Given the description of an element on the screen output the (x, y) to click on. 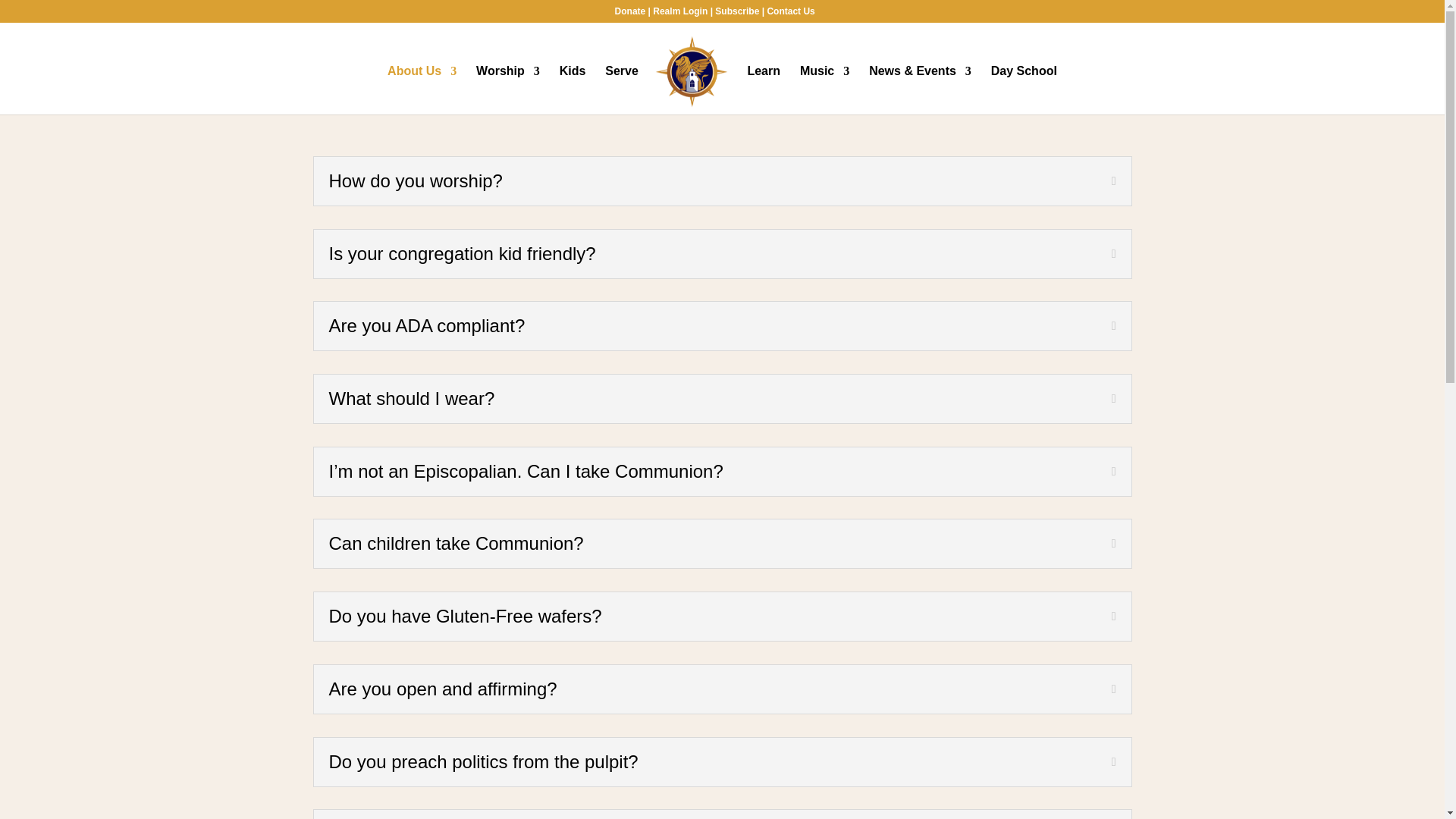
Music (823, 90)
Realm Login (679, 10)
Subscribe (736, 10)
Day School (1024, 90)
Contact Us (790, 10)
Donate (630, 10)
About Us (422, 90)
Worship (508, 90)
